Given the description of an element on the screen output the (x, y) to click on. 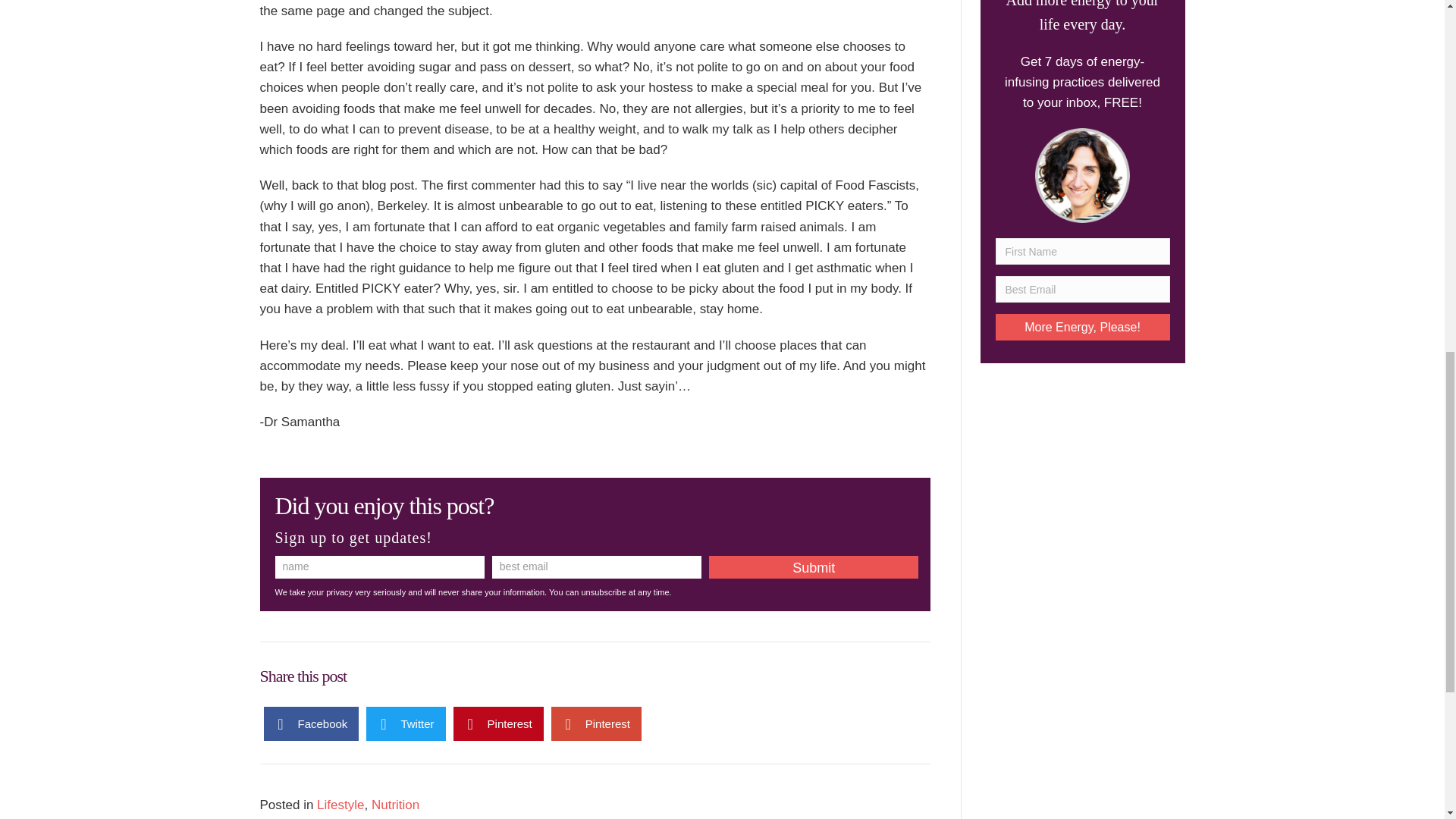
More Energy, Please! (1081, 326)
Twitter (405, 723)
Facebook (311, 723)
Nutrition (395, 804)
Submit (813, 567)
Pinterest (497, 723)
Pinterest (596, 723)
Lifestyle (340, 804)
